Given the description of an element on the screen output the (x, y) to click on. 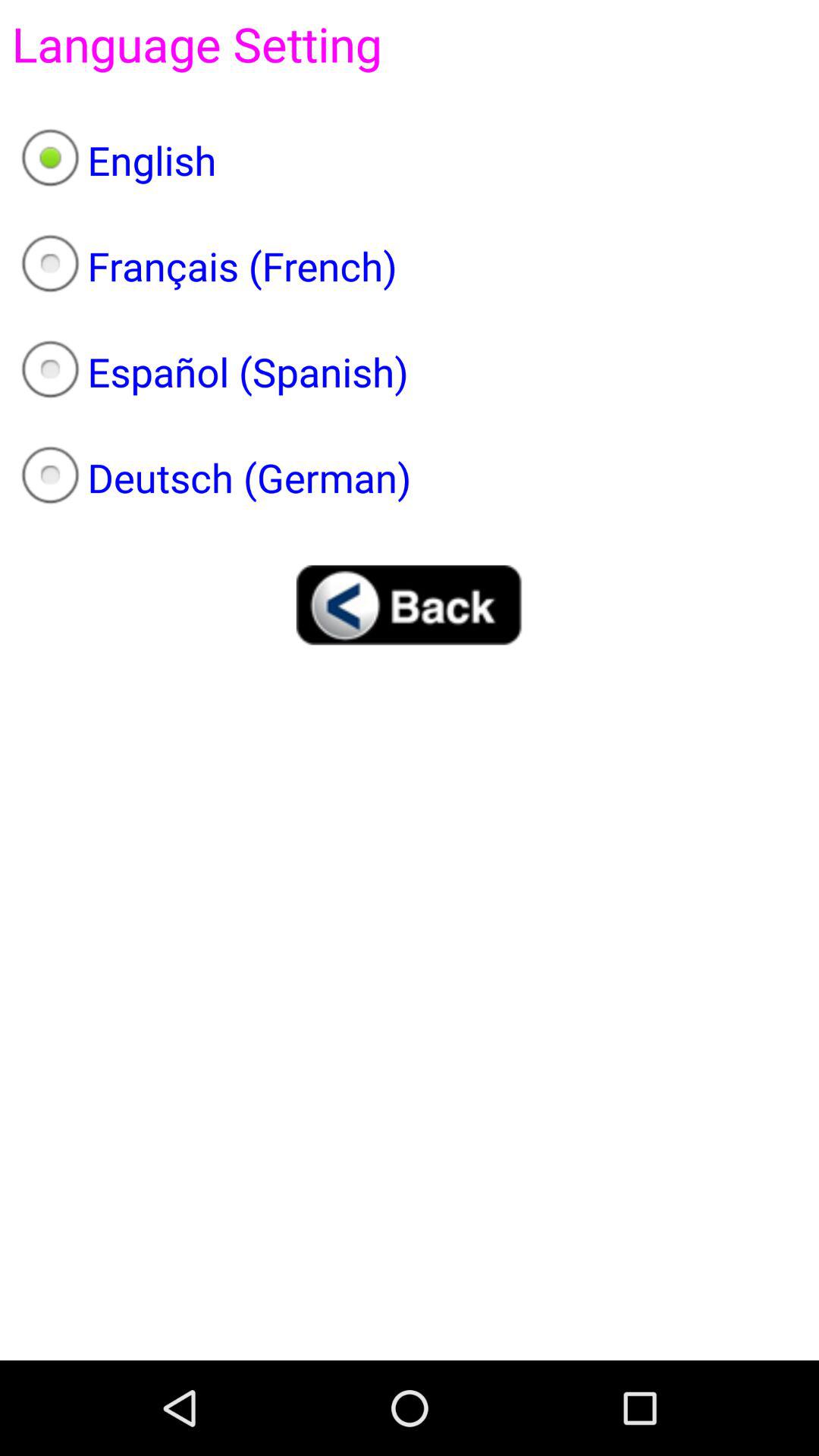
flip until english item (409, 160)
